Given the description of an element on the screen output the (x, y) to click on. 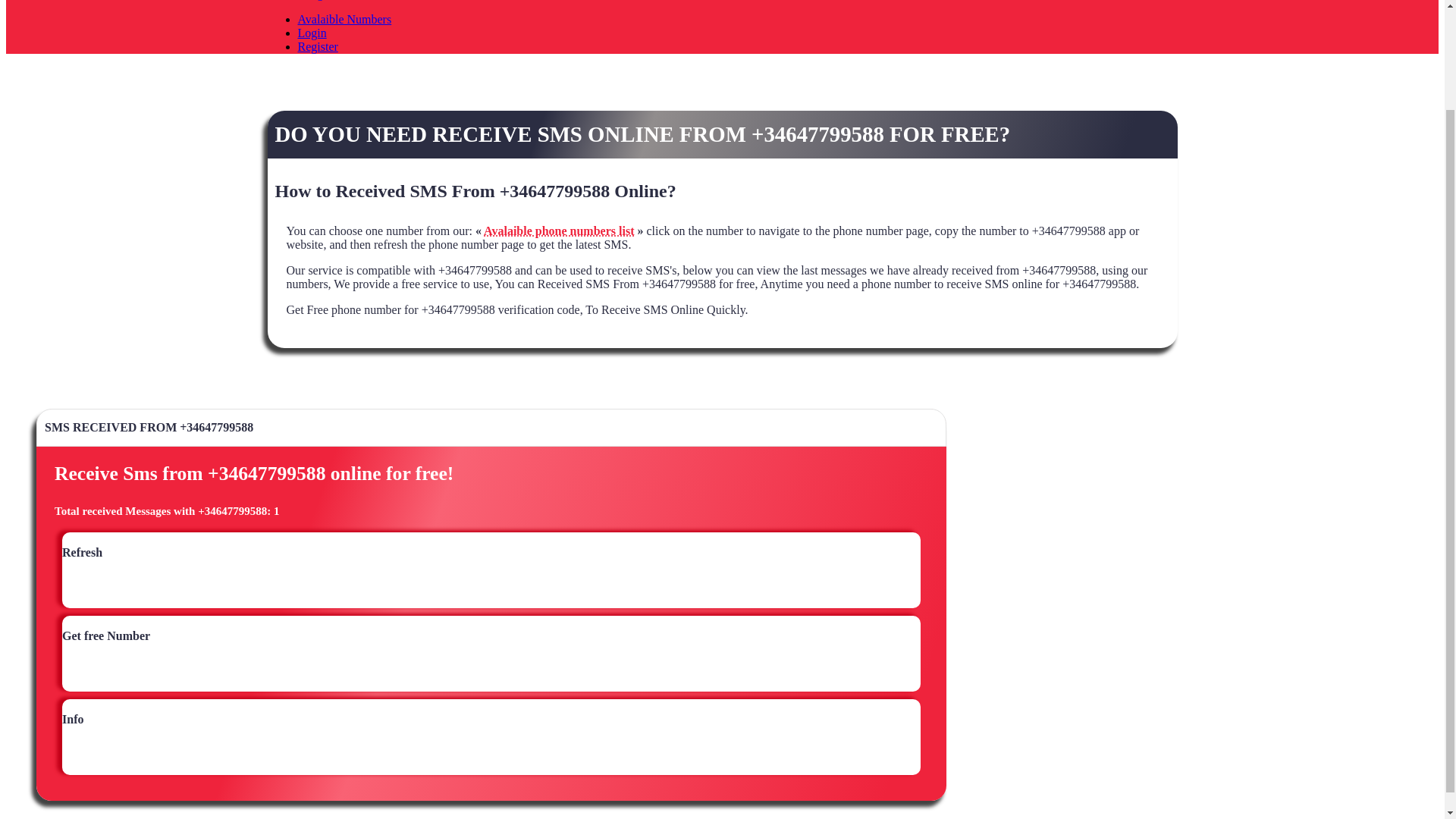
Login (311, 32)
Avalaible Numbers (344, 19)
Refresh (81, 559)
Get free Number (105, 642)
Register (317, 46)
Avalaible phone numbers list (558, 230)
